Given the description of an element on the screen output the (x, y) to click on. 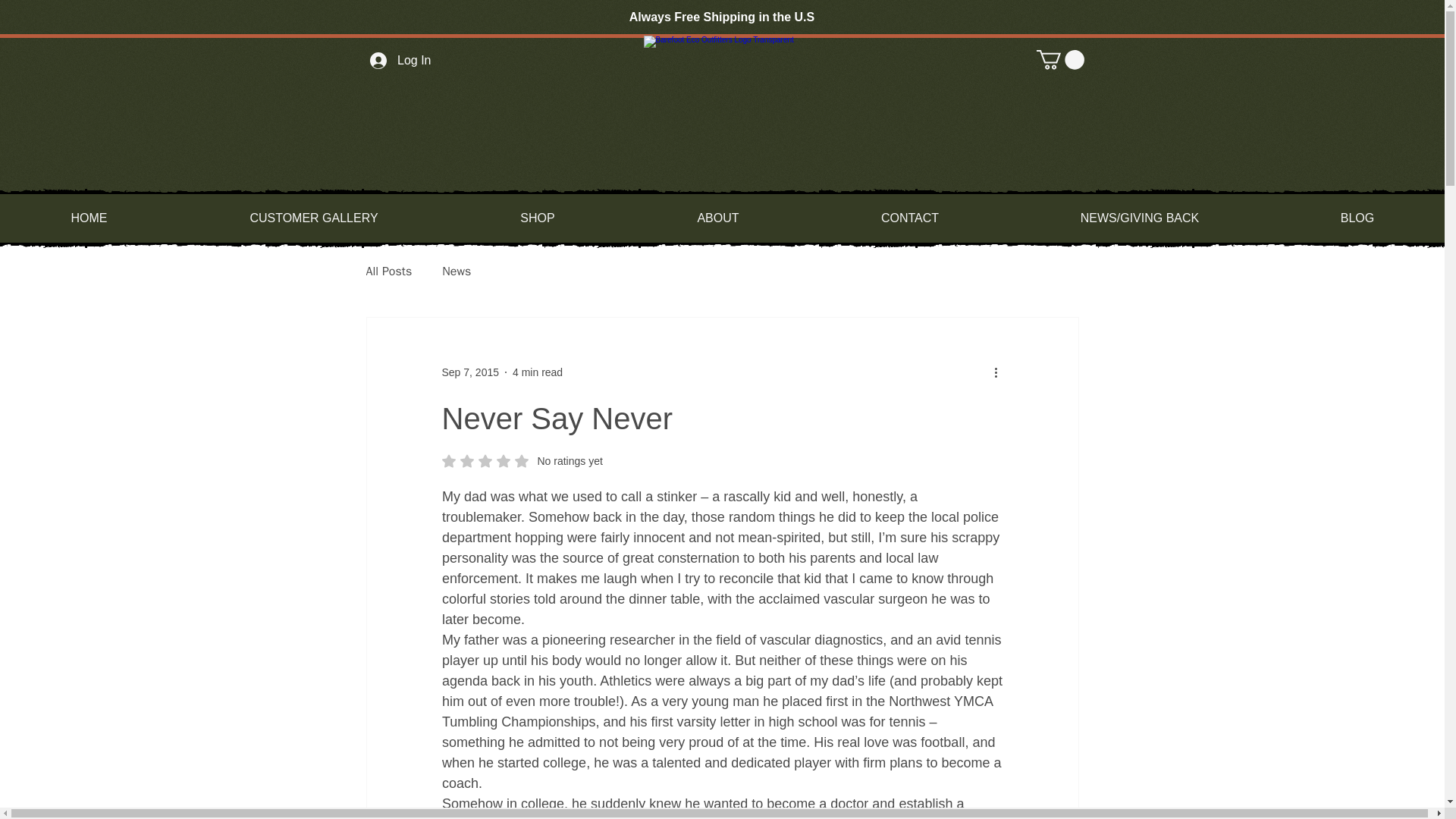
Log In (400, 60)
BLOG (1356, 218)
CONTACT (909, 218)
CUSTOMER GALLERY (312, 218)
ABOUT (717, 218)
HOME (88, 218)
SHOP (537, 218)
News (456, 271)
4 min read (537, 371)
Sep 7, 2015 (470, 371)
